Given the description of an element on the screen output the (x, y) to click on. 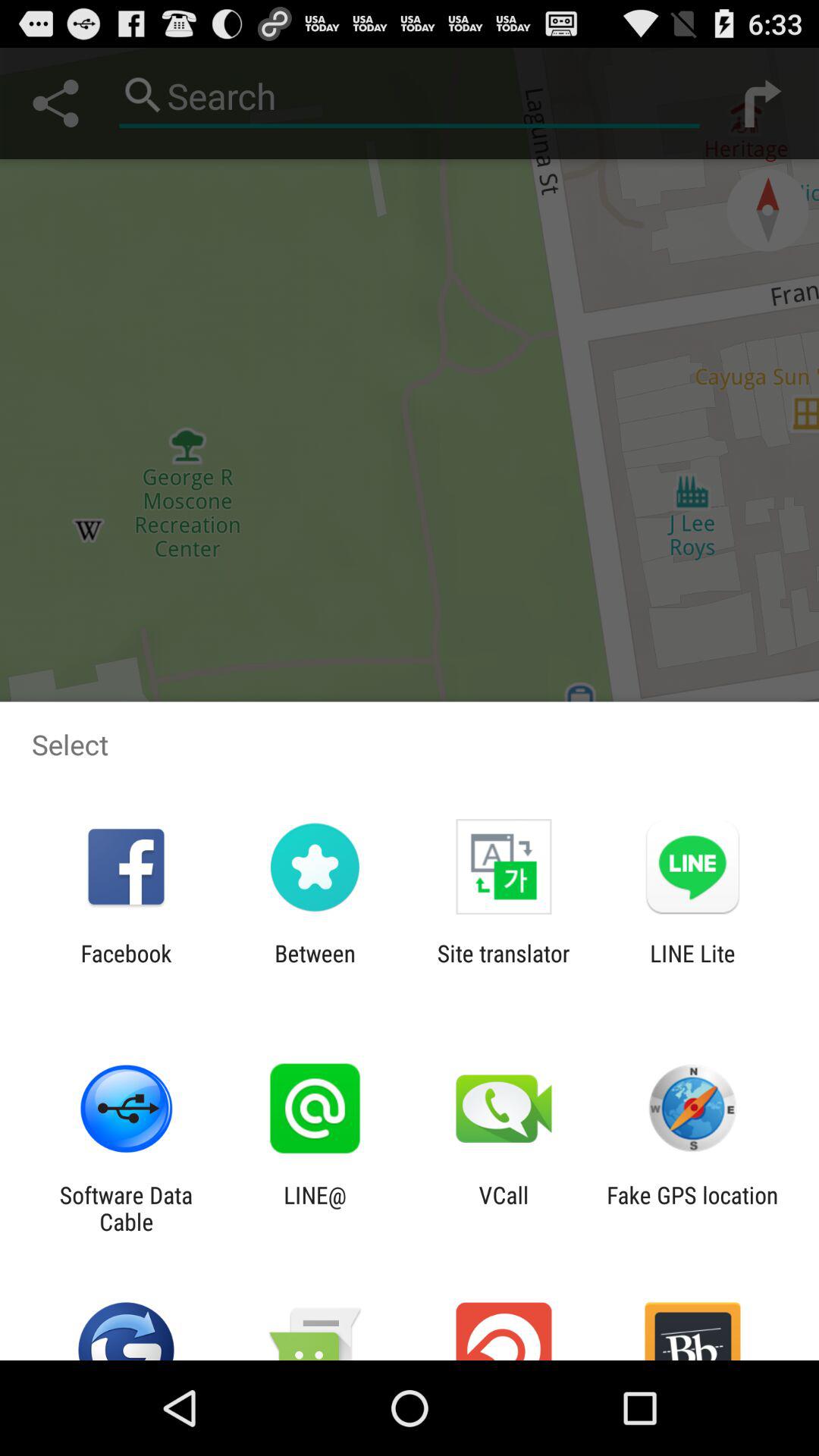
click the item to the right of vcall item (692, 1208)
